Given the description of an element on the screen output the (x, y) to click on. 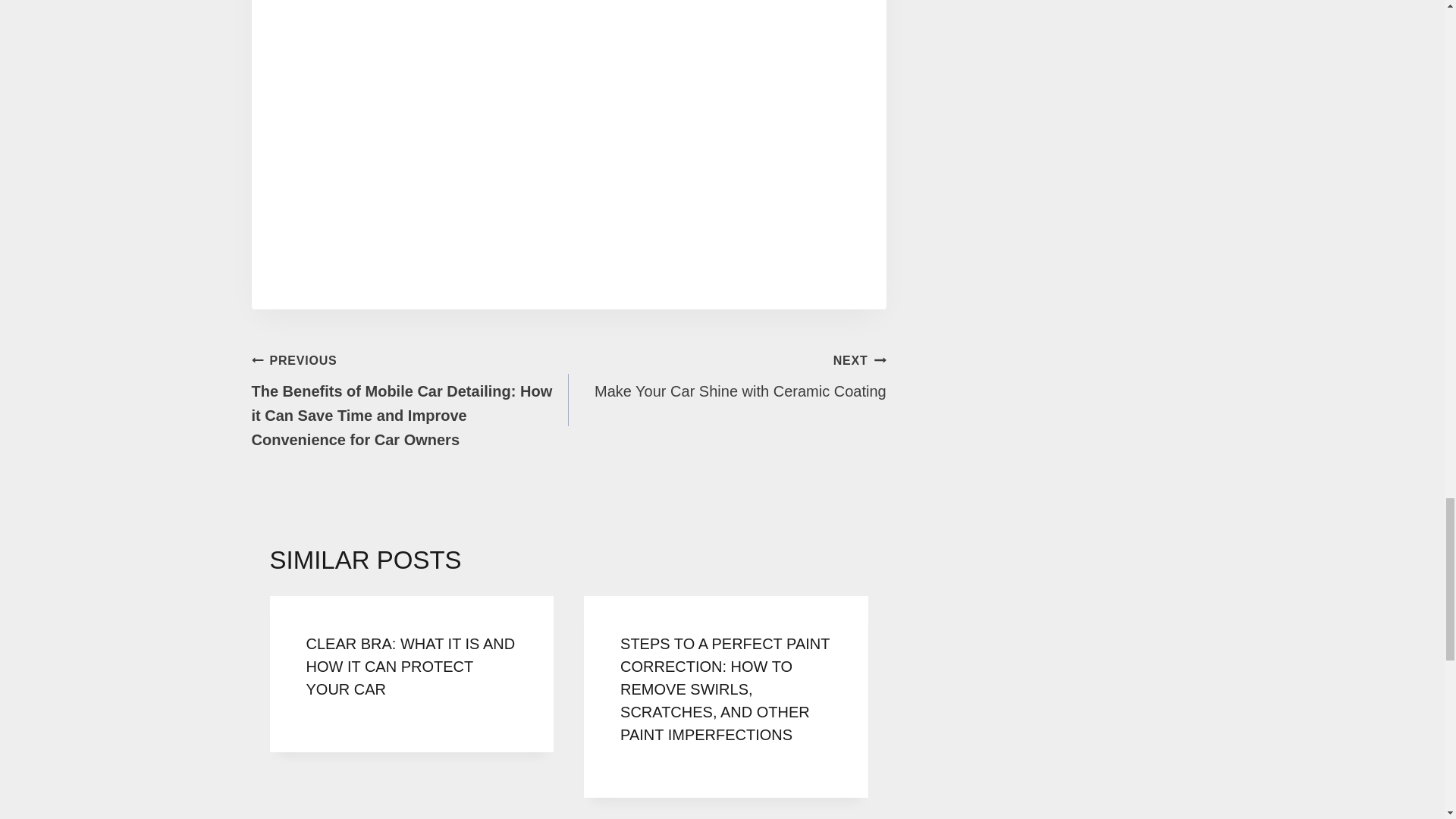
CLEAR BRA: WHAT IT IS AND HOW IT CAN PROTECT YOUR CAR (410, 666)
